Given the description of an element on the screen output the (x, y) to click on. 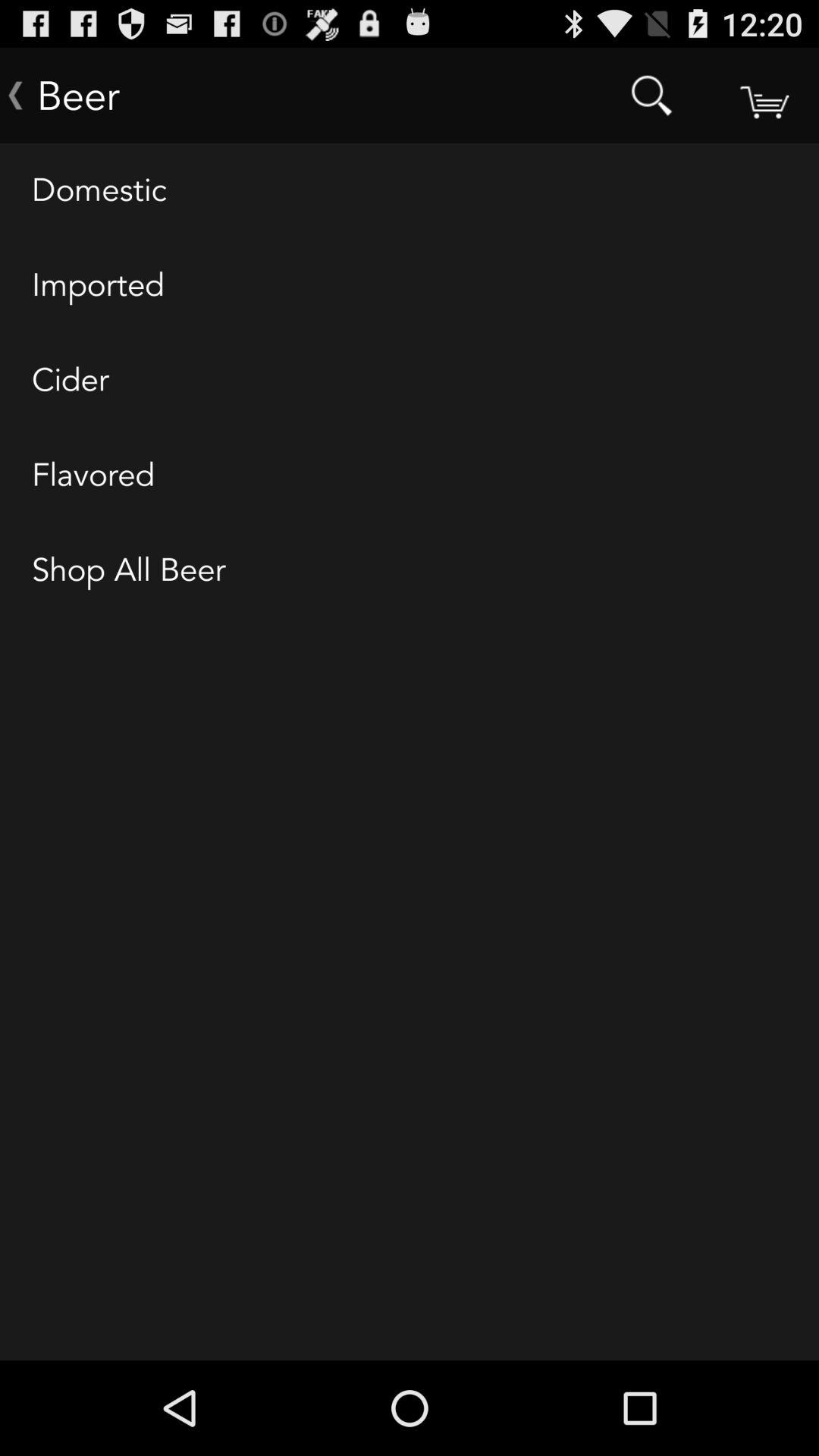
turn on imported (409, 285)
